Given the description of an element on the screen output the (x, y) to click on. 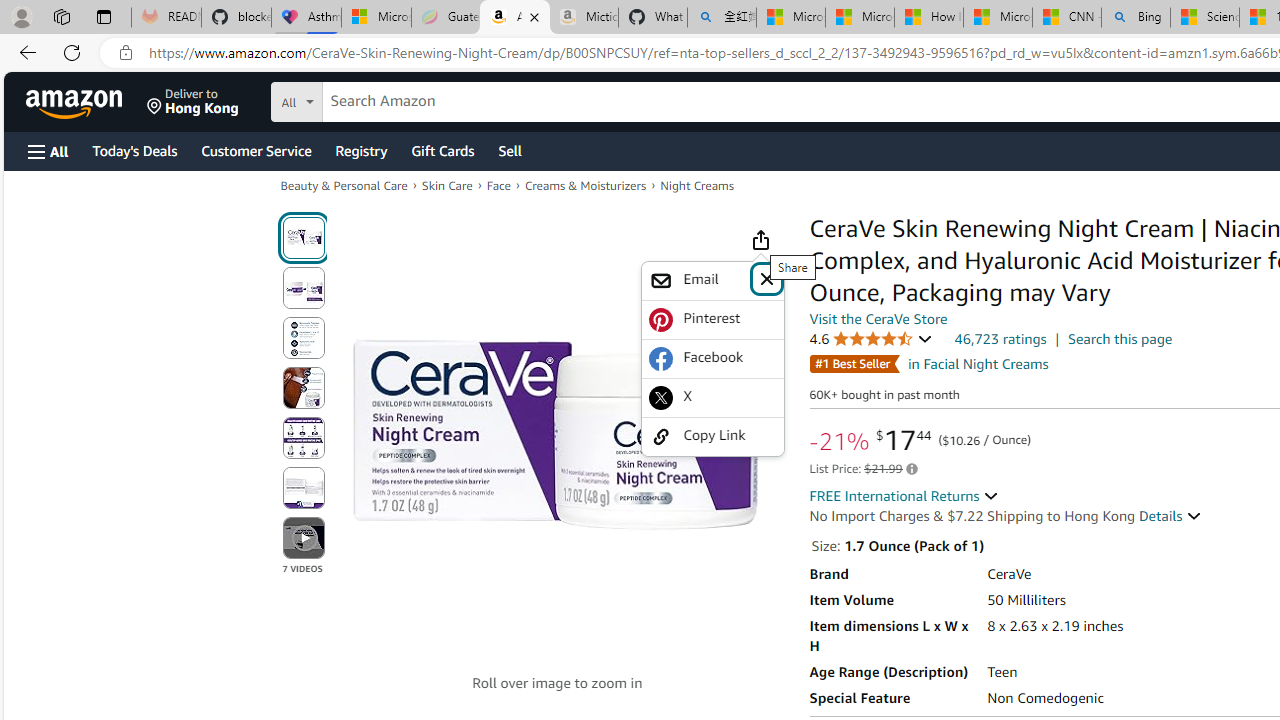
Pinterest (712, 319)
Copy Link (711, 436)
X (711, 397)
Bing (1135, 17)
CNN - MSN (1066, 17)
X (712, 398)
